Given the description of an element on the screen output the (x, y) to click on. 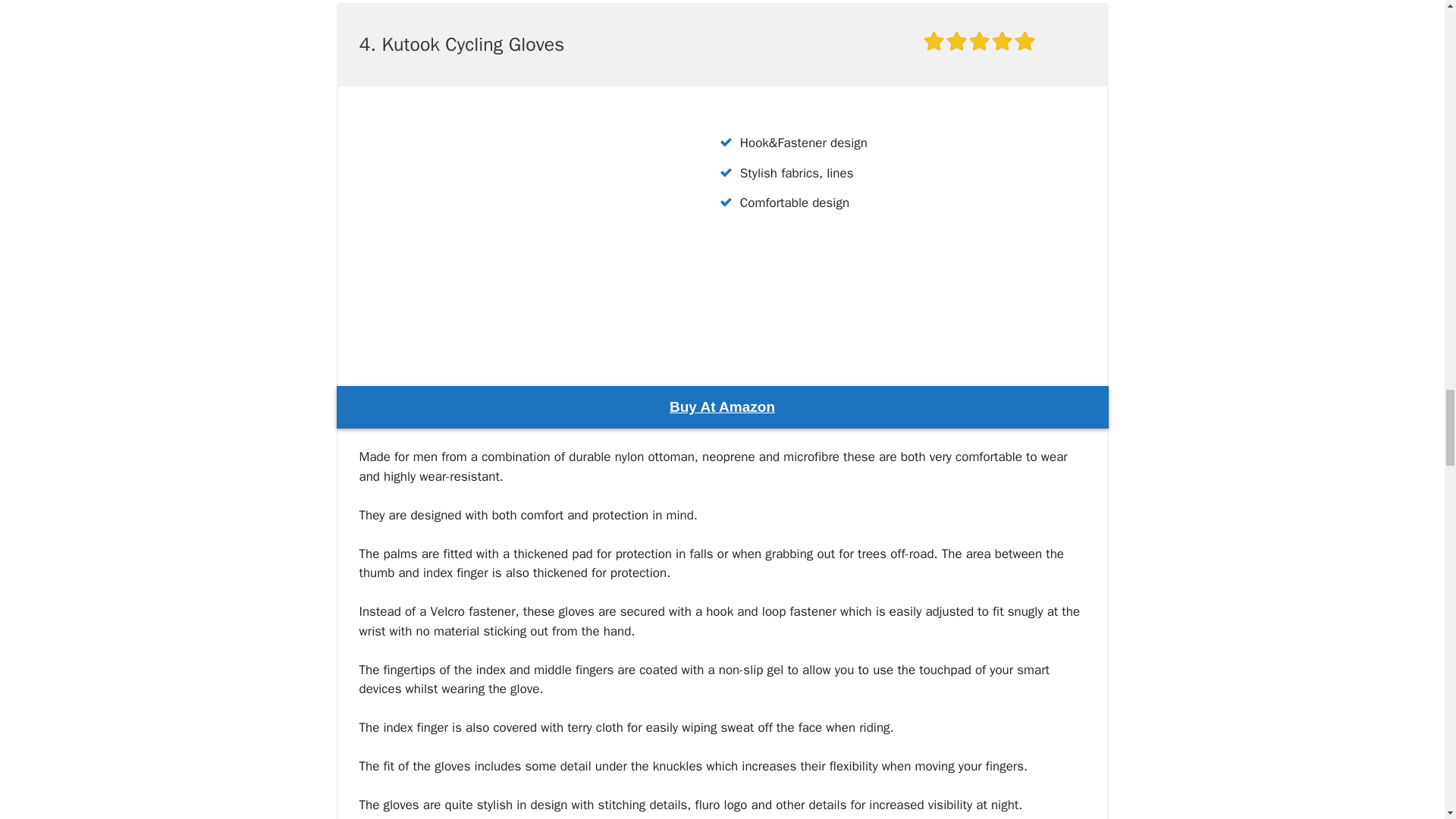
cycle-gloves-4 (512, 229)
Buy At Amazon (722, 407)
